Given the description of an element on the screen output the (x, y) to click on. 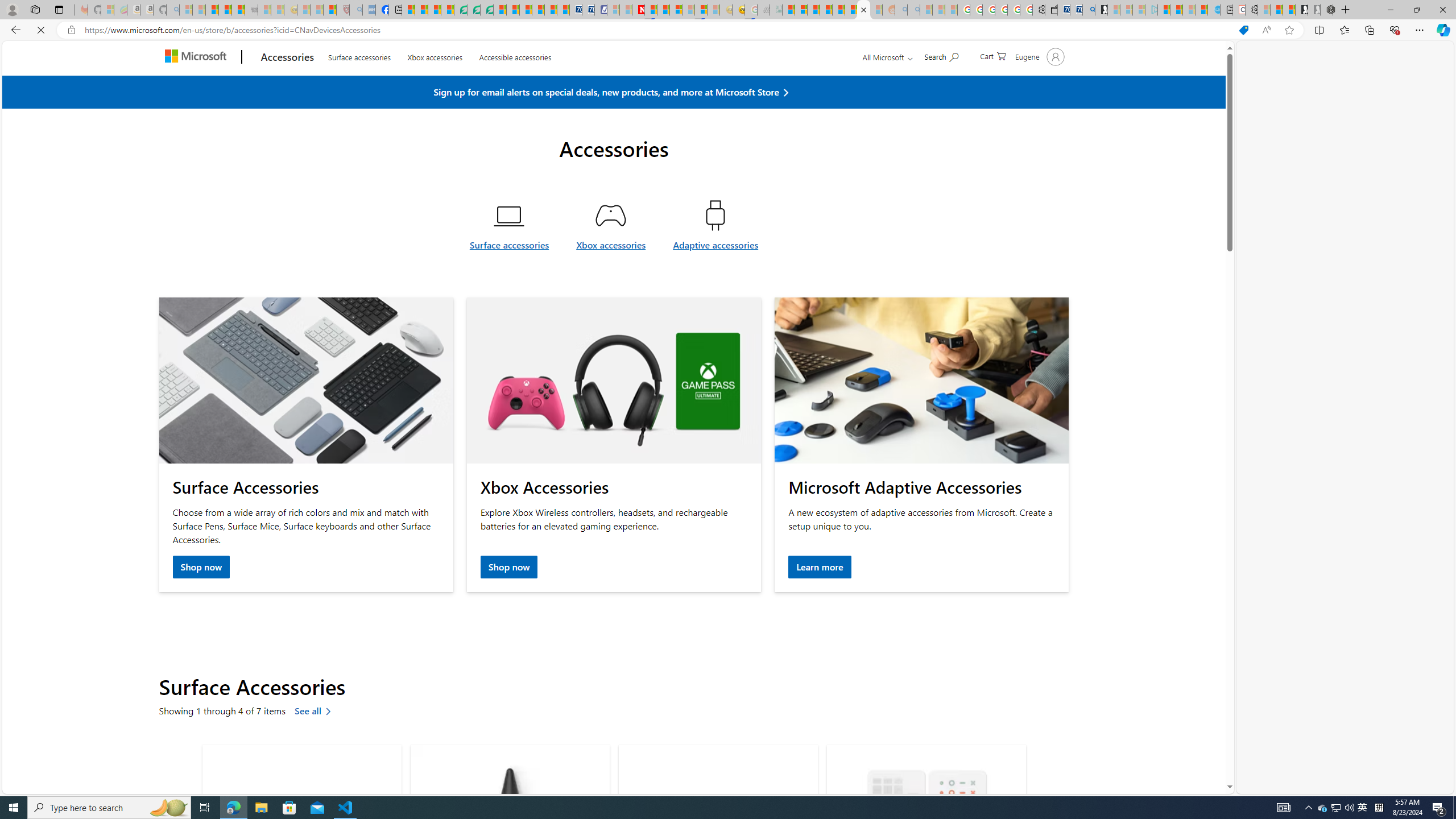
Microsoft Word - consumer-privacy address update 2.2021 (486, 9)
Learn more Microsoft Adaptive Accessories (819, 567)
Student Loan Update: Forgiveness Program Ends This Month (826, 9)
Latest Politics News & Archive | Newsweek.com (638, 9)
